Given the description of an element on the screen output the (x, y) to click on. 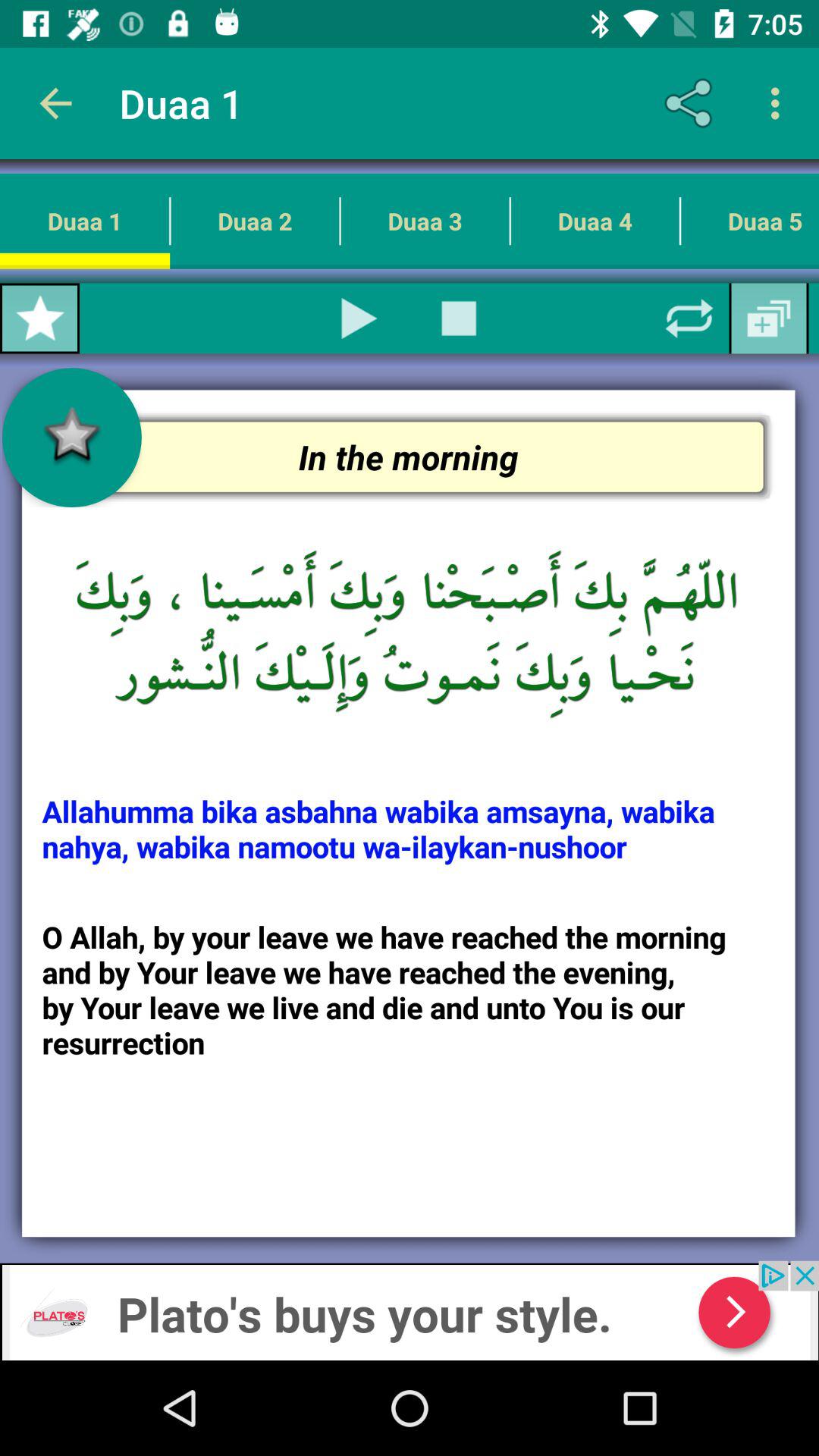
favourite duaa (39, 318)
